Given the description of an element on the screen output the (x, y) to click on. 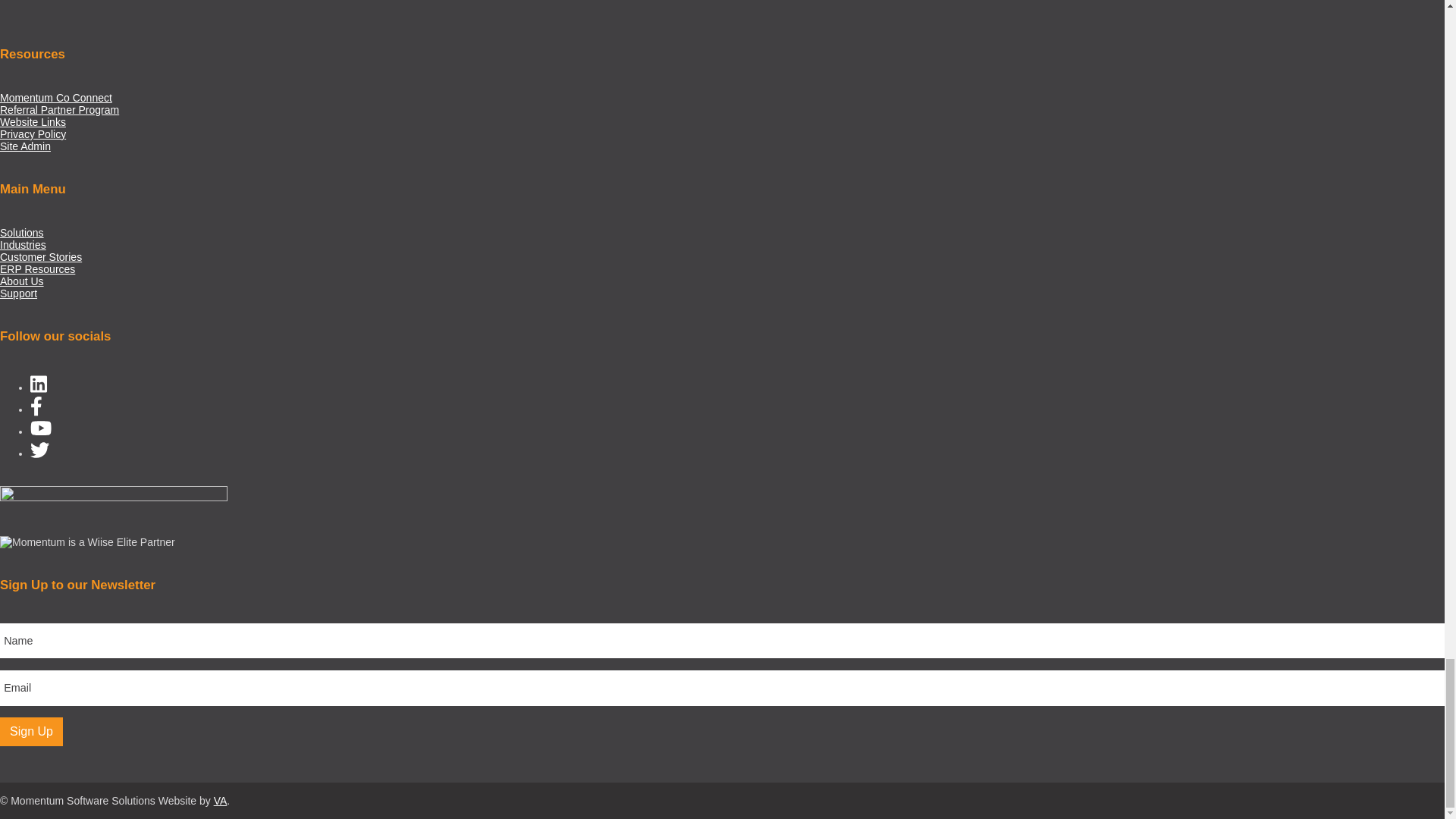
Sign Up (31, 731)
